Given the description of an element on the screen output the (x, y) to click on. 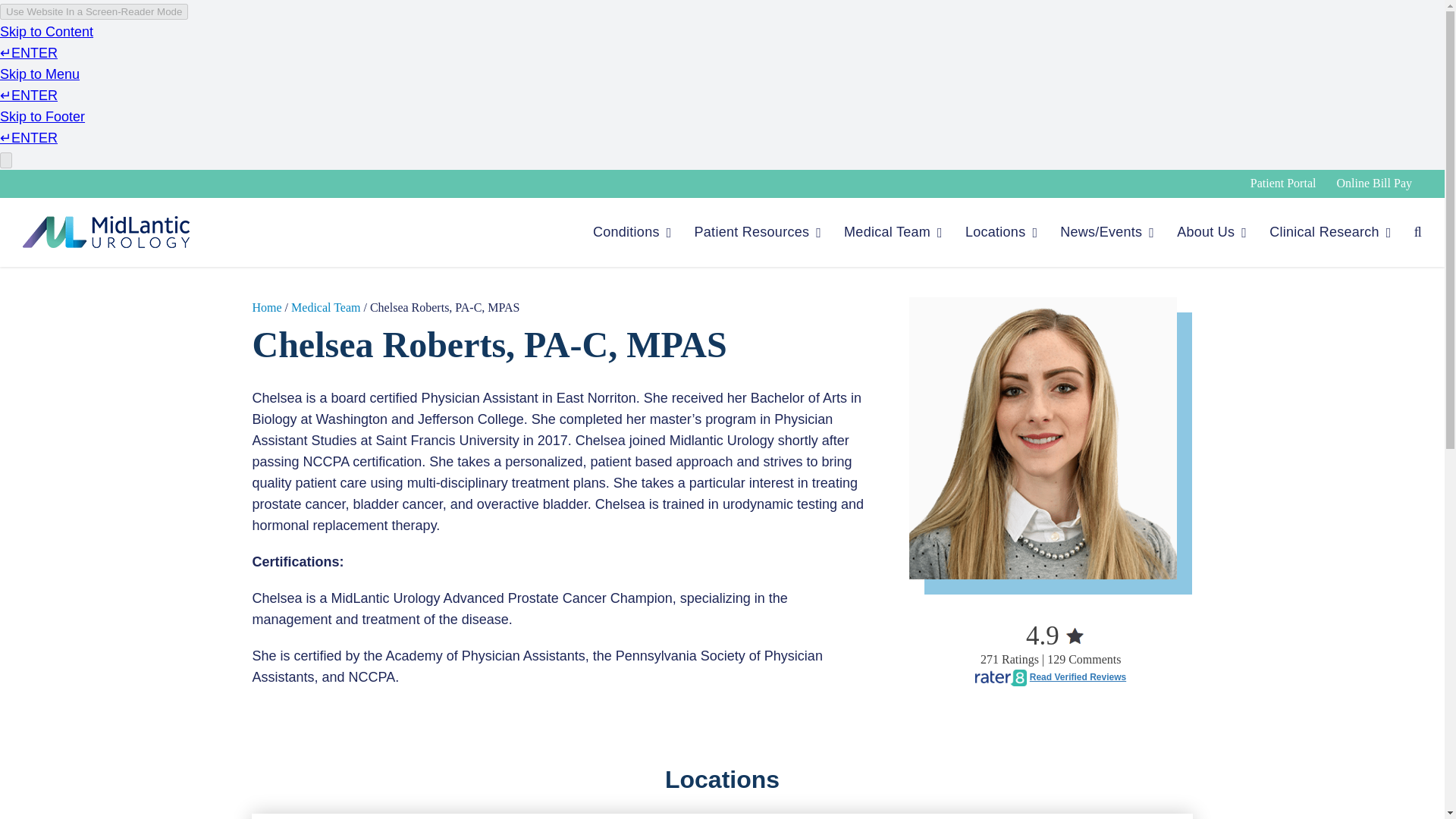
Patient Resources (758, 232)
Medical Team (893, 232)
Patient Portal (1283, 183)
Conditions (631, 232)
Online Bill Pay (1374, 183)
Locations (1000, 232)
